Given the description of an element on the screen output the (x, y) to click on. 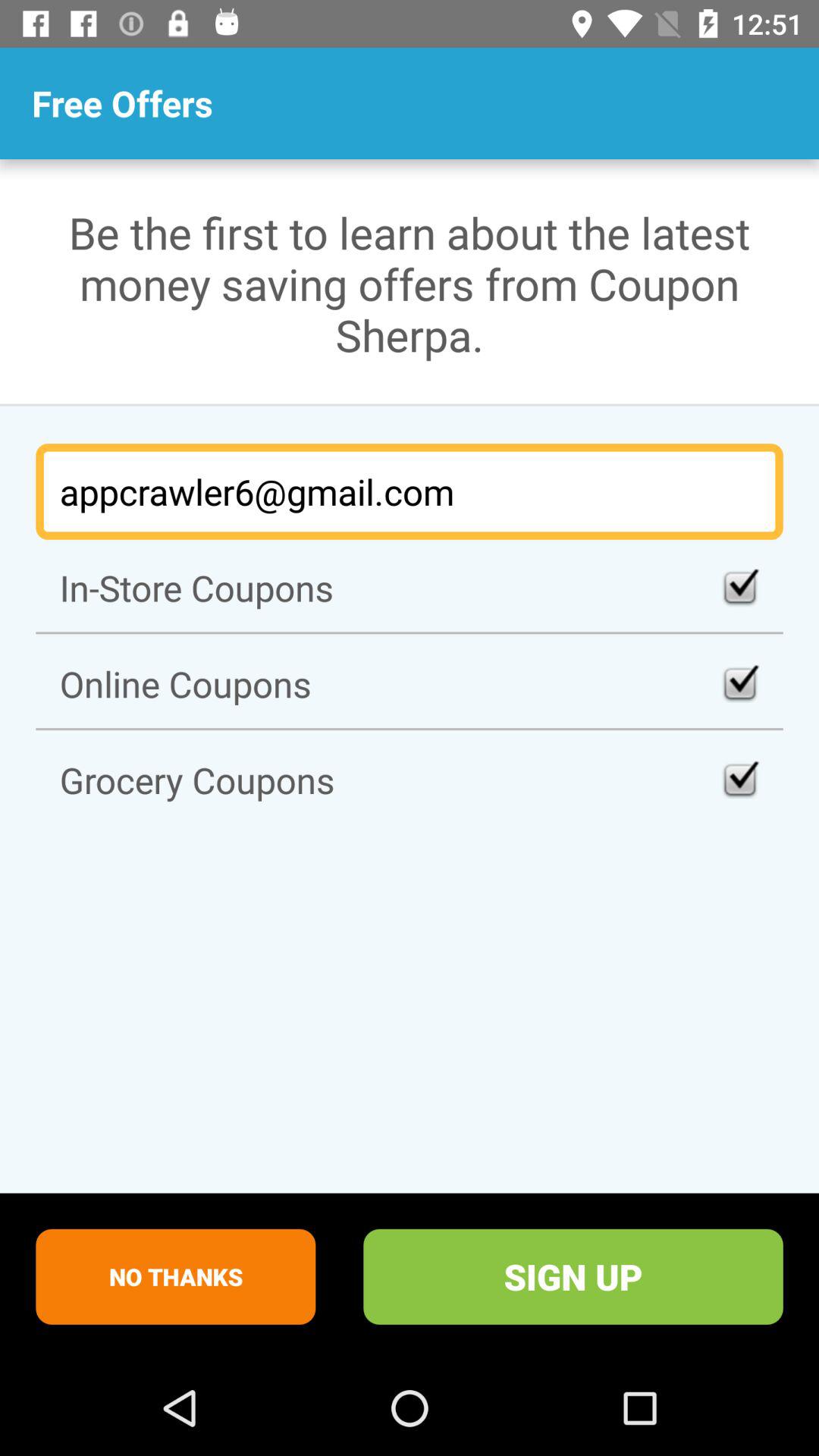
launch item below the online coupons item (409, 779)
